Given the description of an element on the screen output the (x, y) to click on. 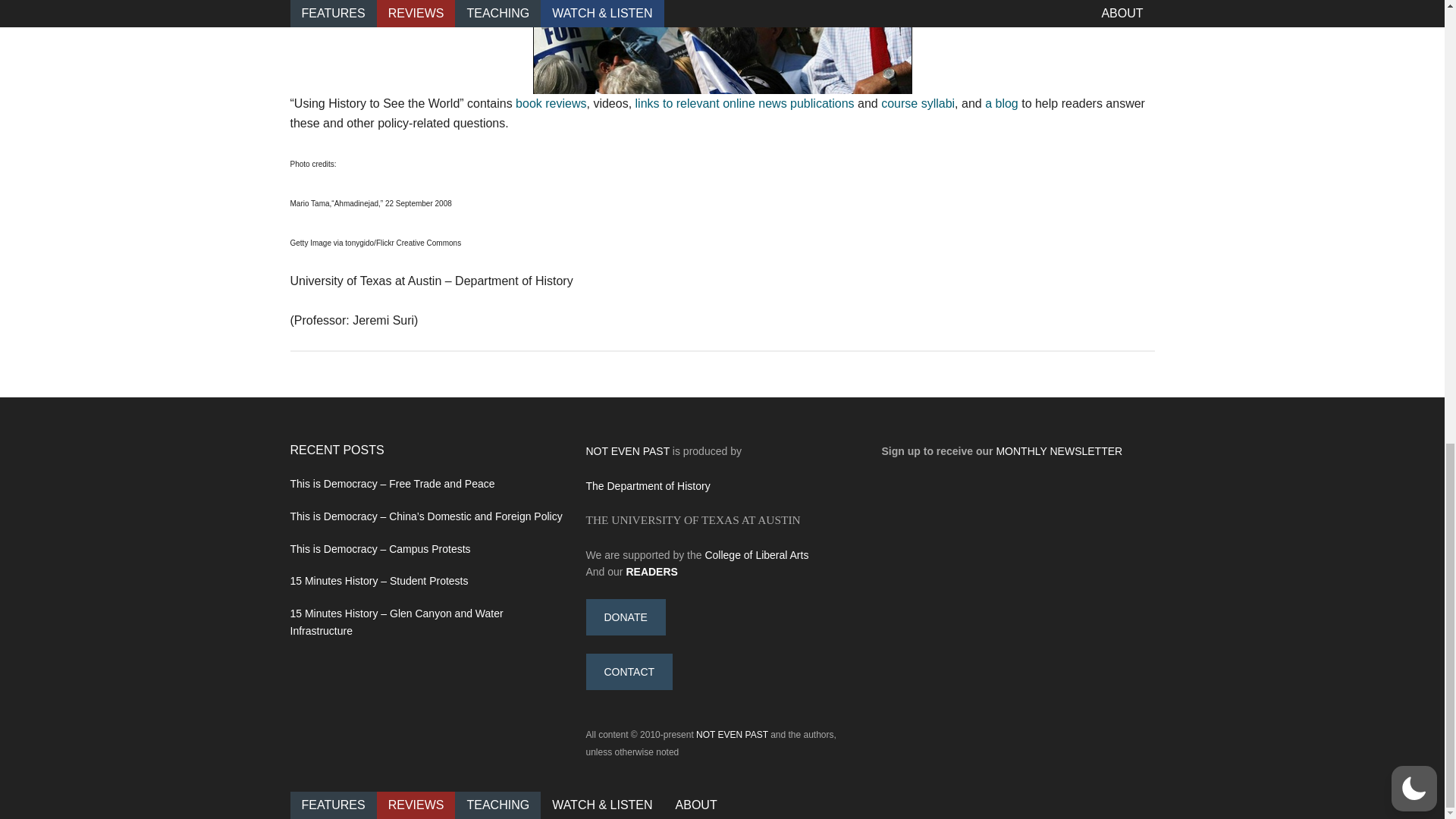
REVIEWS (416, 804)
MONTHLY NEWSLETTER (1058, 451)
book reviews (550, 103)
ABOUT (696, 804)
a blog (1001, 103)
The Department of History (647, 485)
FEATURES (332, 804)
THE UNIVERSITY OF TEXAS AT AUSTIN (692, 519)
CONTACT (628, 671)
DONATE (625, 616)
course syllabi (917, 103)
College of Liberal Arts (756, 553)
links to relevant online news publications (744, 103)
TEACHING (497, 804)
